Given the description of an element on the screen output the (x, y) to click on. 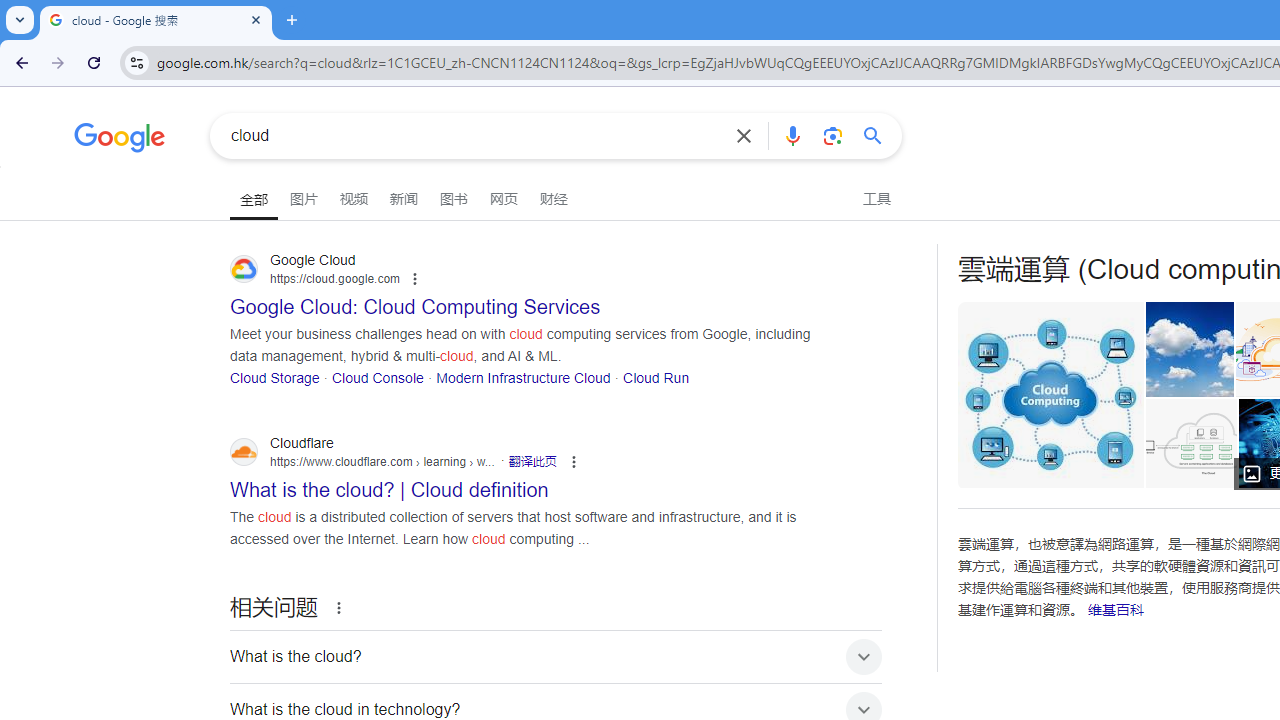
What is the cloud? (555, 656)
Modern Infrastructure Cloud (523, 376)
Cloud Storage (275, 376)
